Given the description of an element on the screen output the (x, y) to click on. 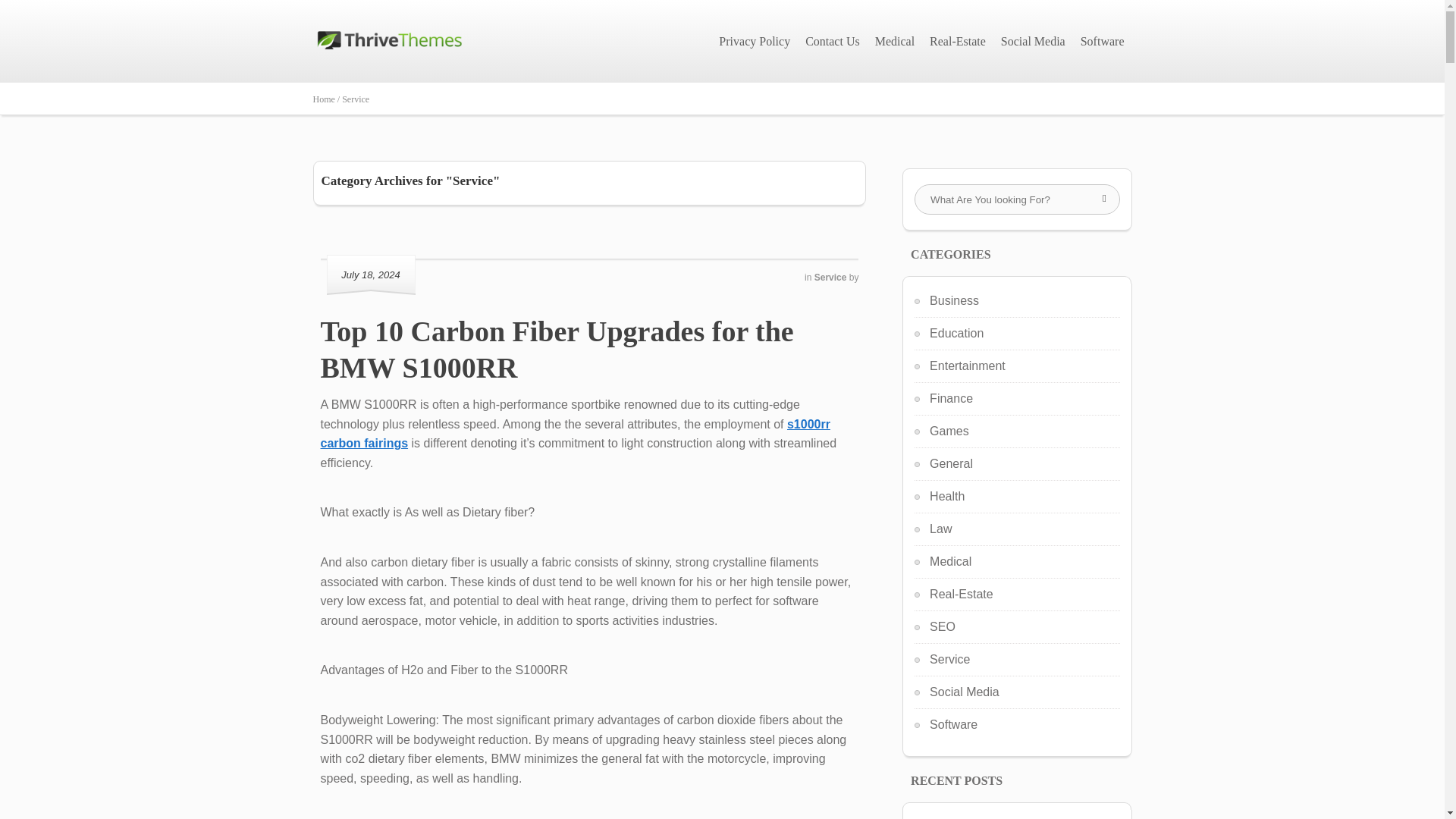
Software (1102, 41)
Social Media (1032, 41)
Top 10 Carbon Fiber Upgrades for the BMW S1000RR (556, 349)
Contact Us (832, 41)
s1000rr carbon fairings (574, 433)
Privacy Policy (754, 41)
Service (830, 276)
Real-Estate (956, 41)
Service (355, 99)
Medical (894, 41)
